Given the description of an element on the screen output the (x, y) to click on. 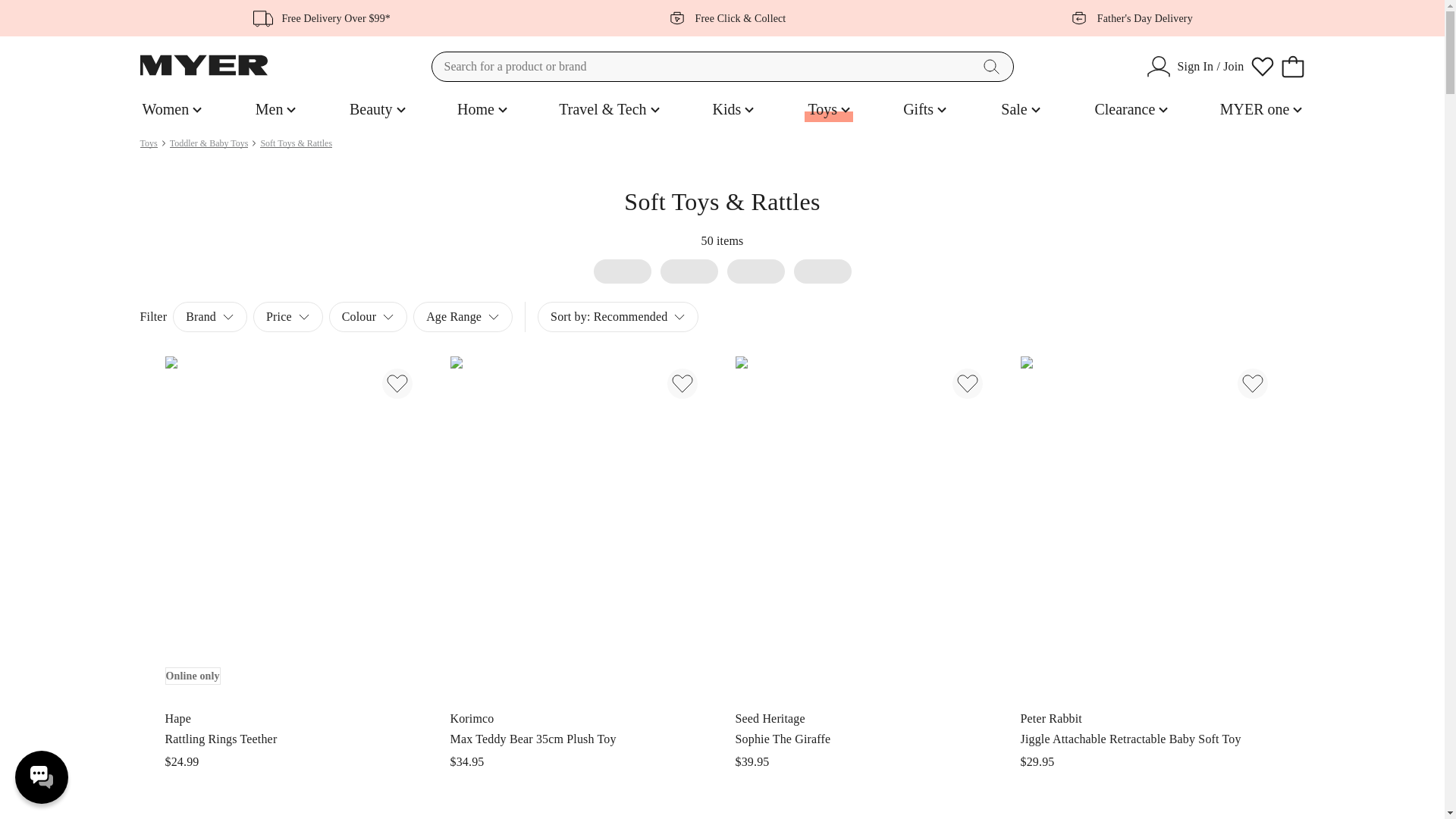
Toys (617, 317)
Kids (829, 109)
Price (733, 109)
Home (288, 317)
Beauty (481, 109)
Age Range (377, 109)
Men (462, 317)
Click here to toggle the virtual assistant (275, 109)
Women (41, 777)
